Given the description of an element on the screen output the (x, y) to click on. 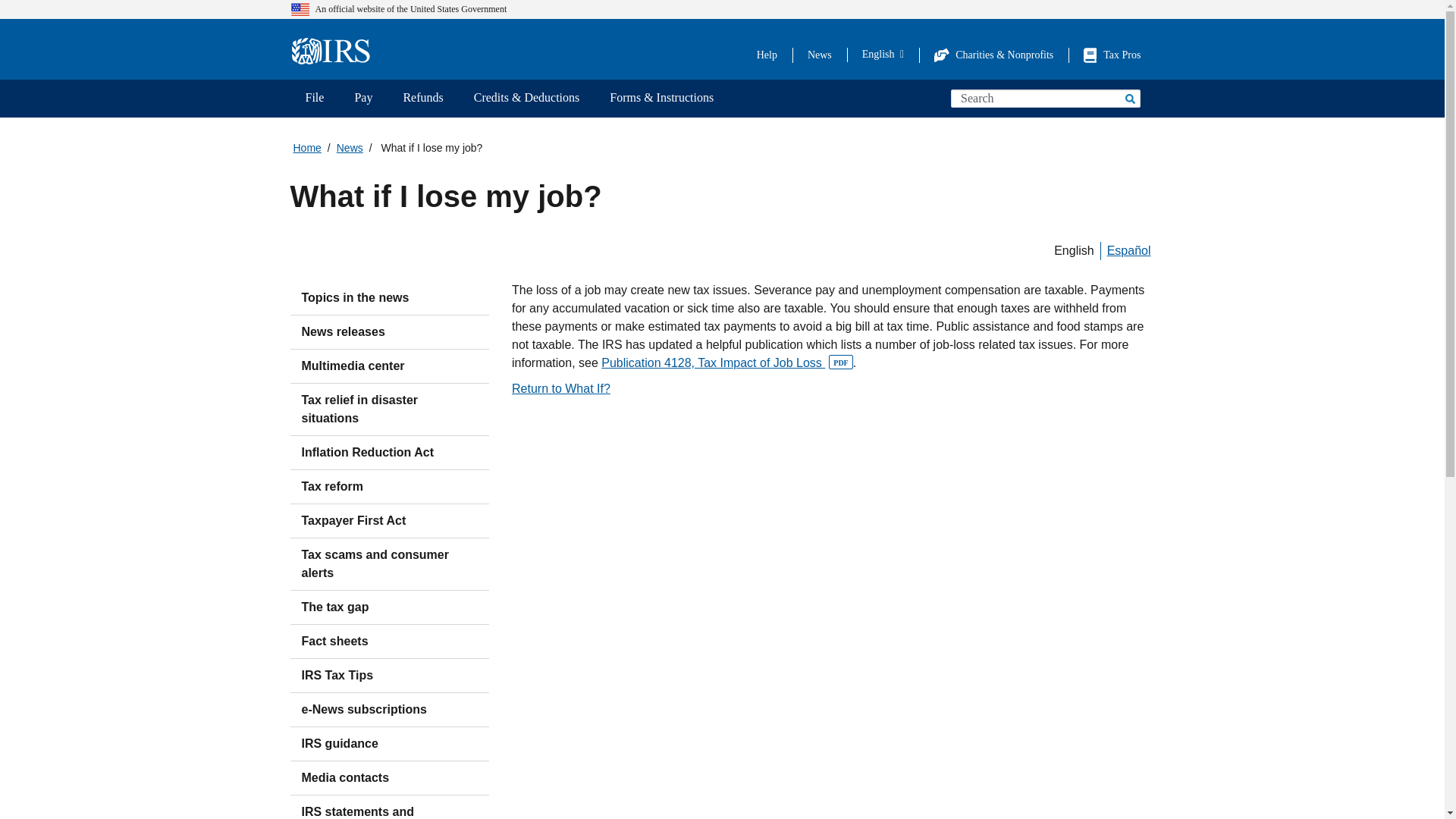
Tax Pros (1111, 55)
Search (1129, 98)
File (314, 98)
English (882, 54)
Pay (363, 98)
Home (335, 51)
